Given the description of an element on the screen output the (x, y) to click on. 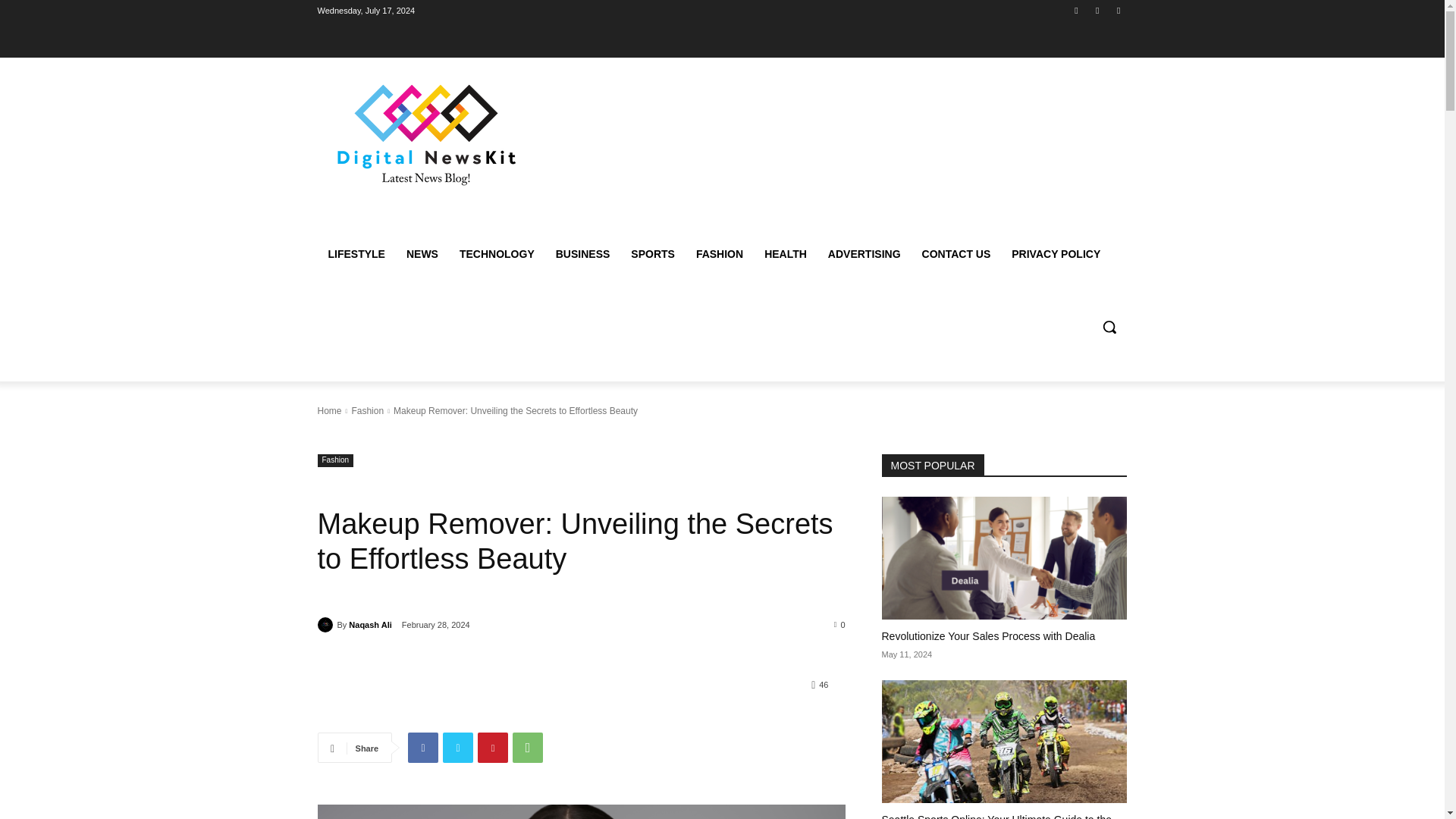
Home (328, 410)
BUSINESS (582, 253)
SPORTS (652, 253)
Instagram (1075, 9)
ADVERTISING (863, 253)
Fashion (335, 460)
TECHNOLOGY (496, 253)
NEWS (422, 253)
LIFESTYLE (355, 253)
Fashion (367, 410)
Skype (1097, 9)
View all posts in Fashion (367, 410)
PRIVACY POLICY (1055, 253)
Naqash Ali (370, 624)
CONTACT US (956, 253)
